Given the description of an element on the screen output the (x, y) to click on. 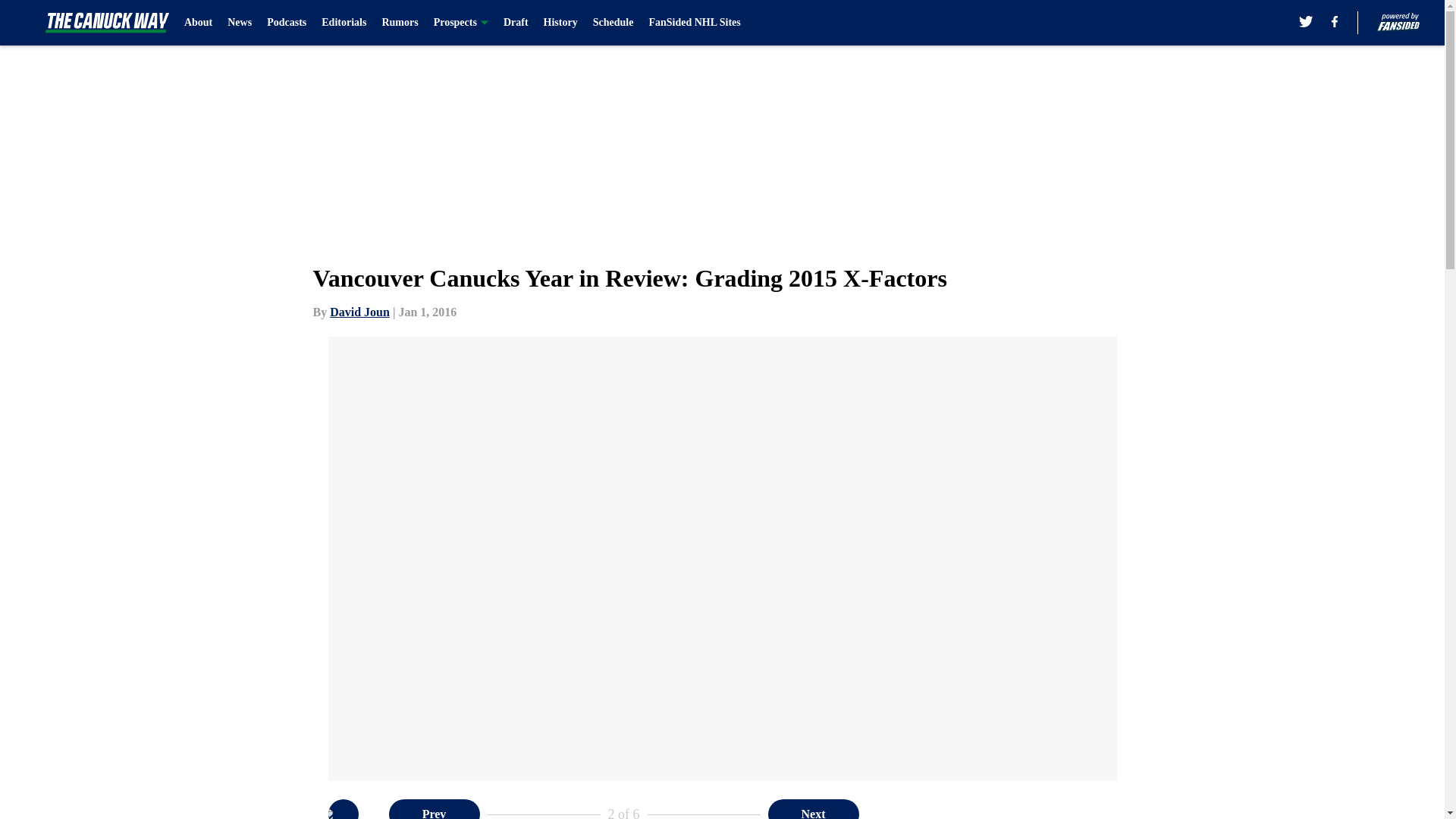
Rumors (399, 22)
News (239, 22)
Next (813, 809)
Schedule (612, 22)
FanSided NHL Sites (693, 22)
Editorials (343, 22)
About (198, 22)
Prev (433, 809)
Draft (515, 22)
History (560, 22)
David Joun (360, 311)
Podcasts (285, 22)
